Given the description of an element on the screen output the (x, y) to click on. 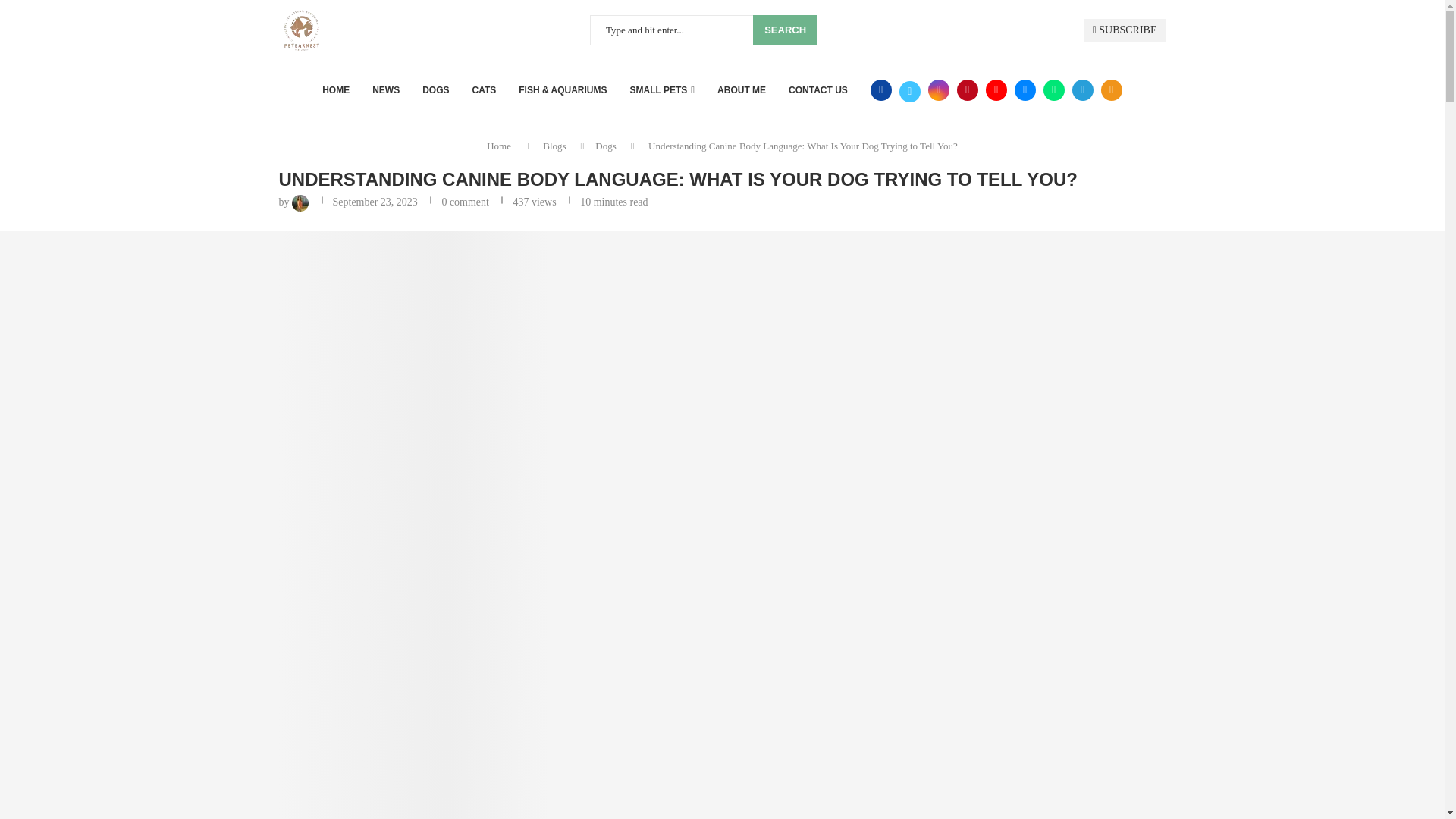
SMALL PETS (662, 89)
SEARCH (784, 30)
SUBSCRIBE (1124, 29)
